Given the description of an element on the screen output the (x, y) to click on. 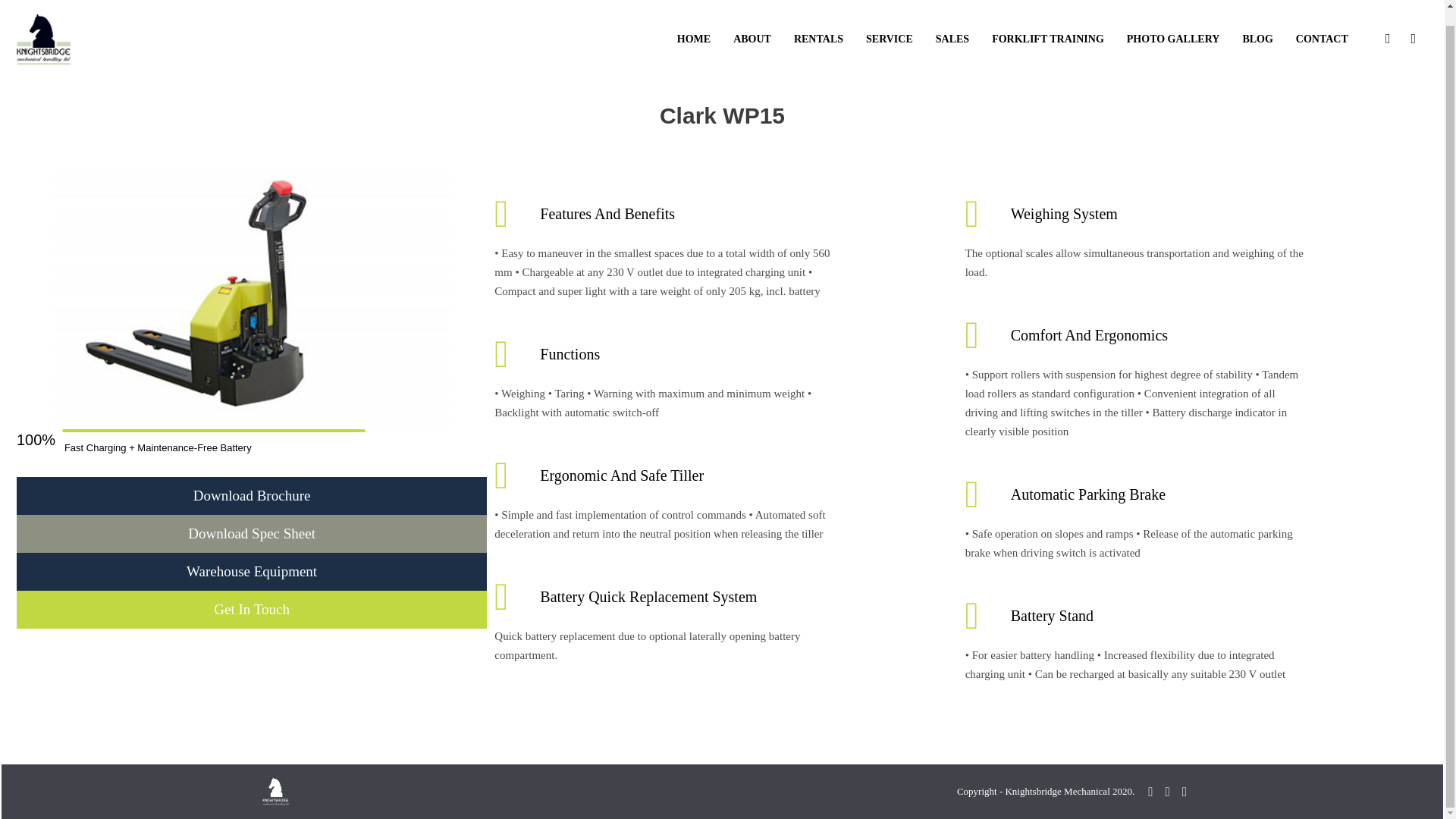
PHOTO GALLERY (1173, 37)
ABOUT (751, 37)
SERVICE (889, 37)
HOME (693, 37)
RENTALS (818, 37)
BLOG (1257, 37)
CONTACT (1322, 37)
SALES (951, 37)
FORKLIFT TRAINING (1048, 37)
